Given the description of an element on the screen output the (x, y) to click on. 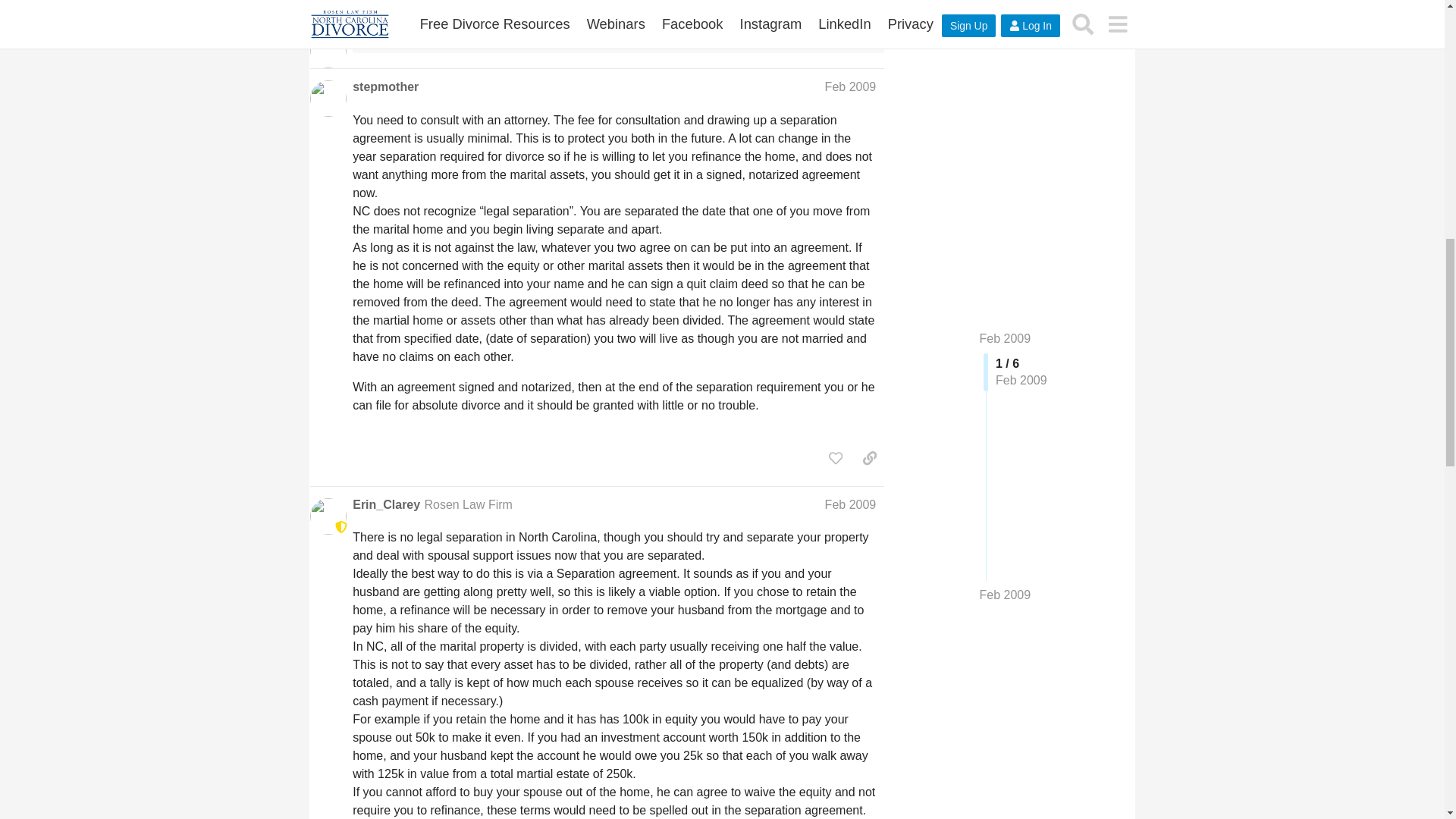
last reply (490, 8)
2 (718, 19)
2 (687, 19)
